Given the description of an element on the screen output the (x, y) to click on. 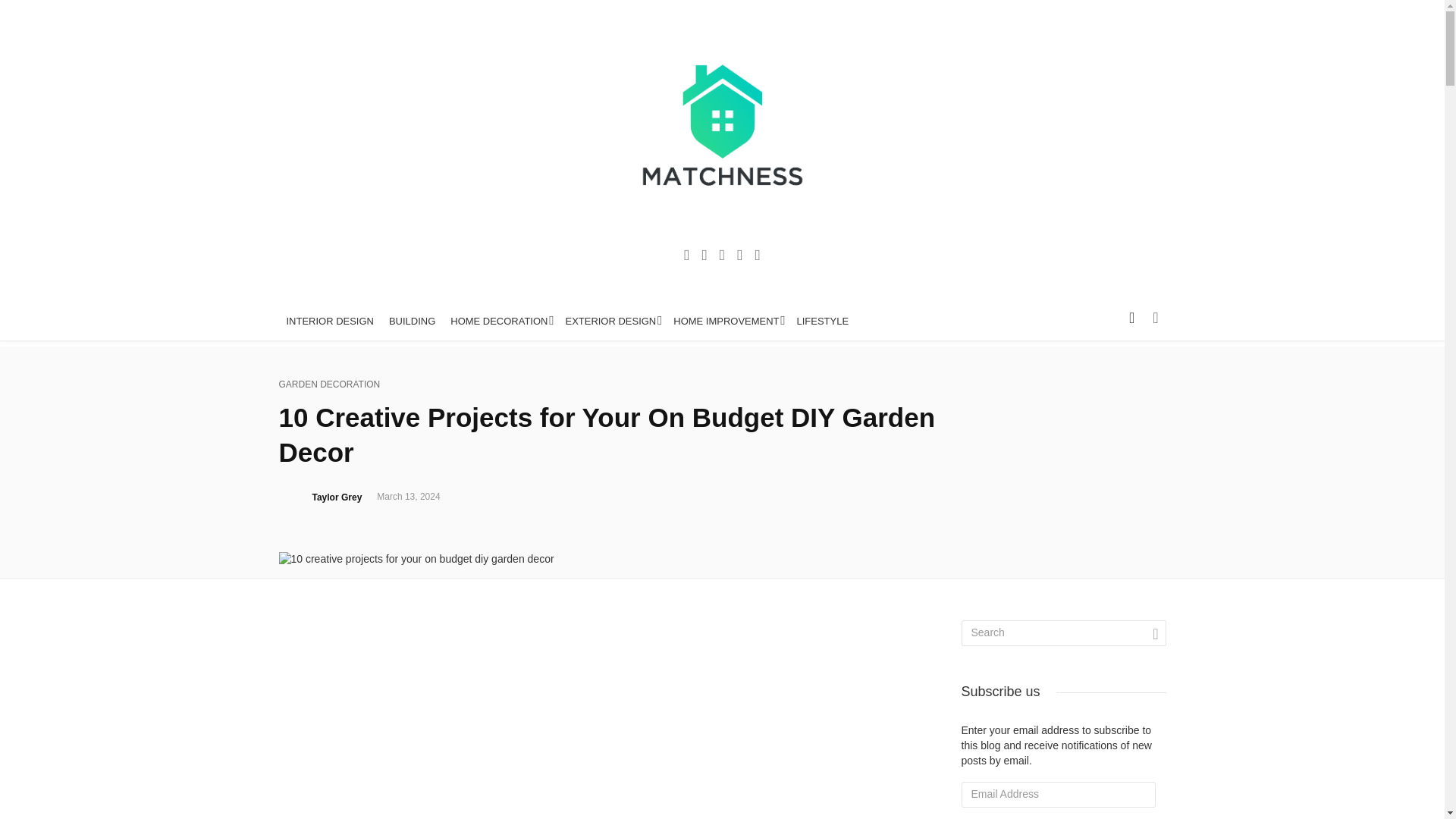
LIFESTYLE (823, 320)
HOME DECORATION (499, 320)
GARDEN DECORATION (329, 384)
March 13, 2024 at 10:31 am (408, 497)
INTERIOR DESIGN (330, 320)
HOME IMPROVEMENT (727, 320)
Taylor Grey (337, 497)
EXTERIOR DESIGN (611, 320)
BUILDING (411, 320)
